Given the description of an element on the screen output the (x, y) to click on. 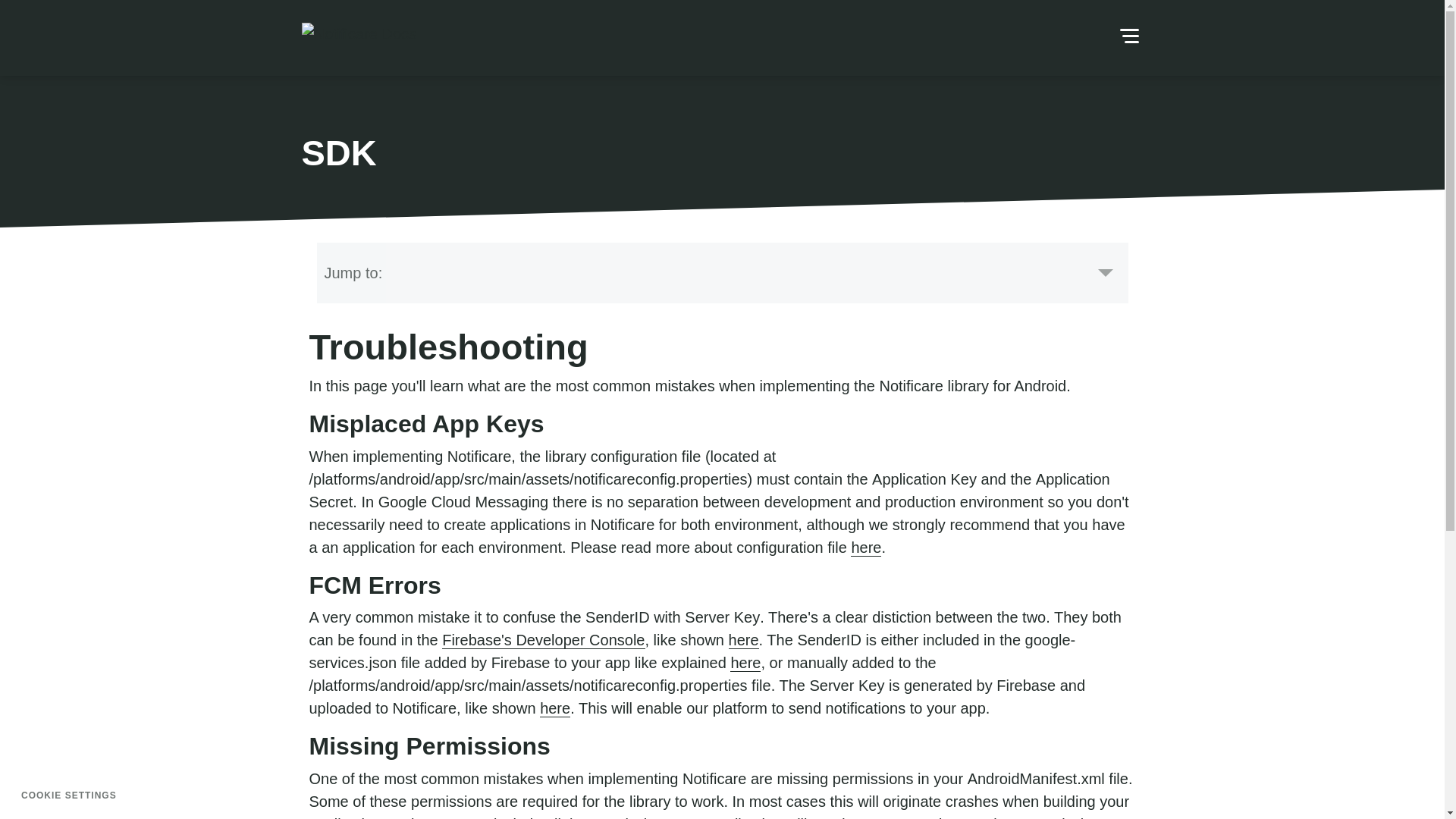
here (743, 640)
here (555, 708)
Firebase's Developer Console (543, 640)
here (865, 547)
COOKIE SETTINGS (68, 794)
here (745, 662)
